Given the description of an element on the screen output the (x, y) to click on. 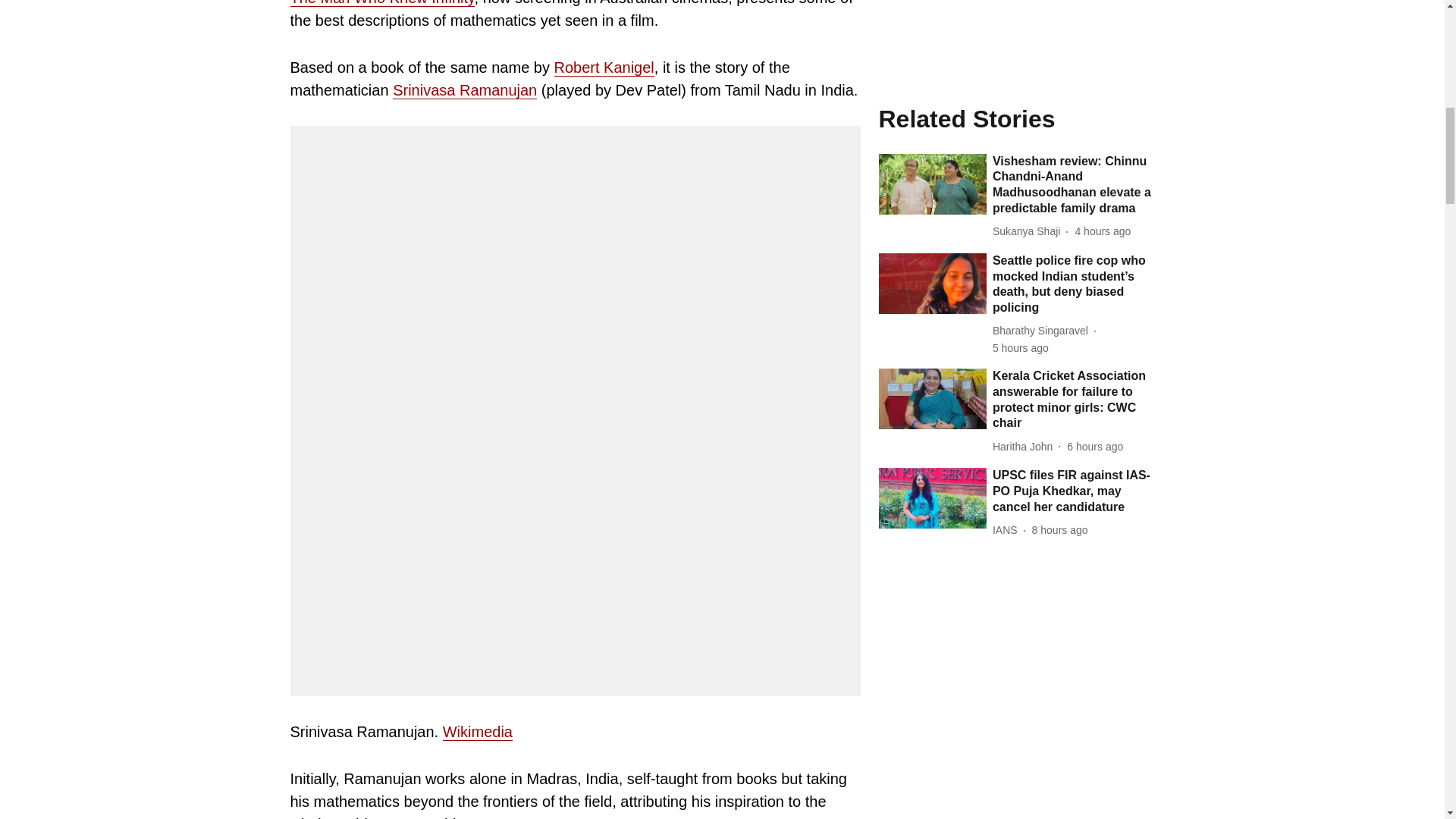
Srinivasa Ramanujan (465, 90)
Wikimedia (477, 732)
The Man Who Knew Infinity (381, 3)
Robert Kanigel (603, 67)
